Given the description of an element on the screen output the (x, y) to click on. 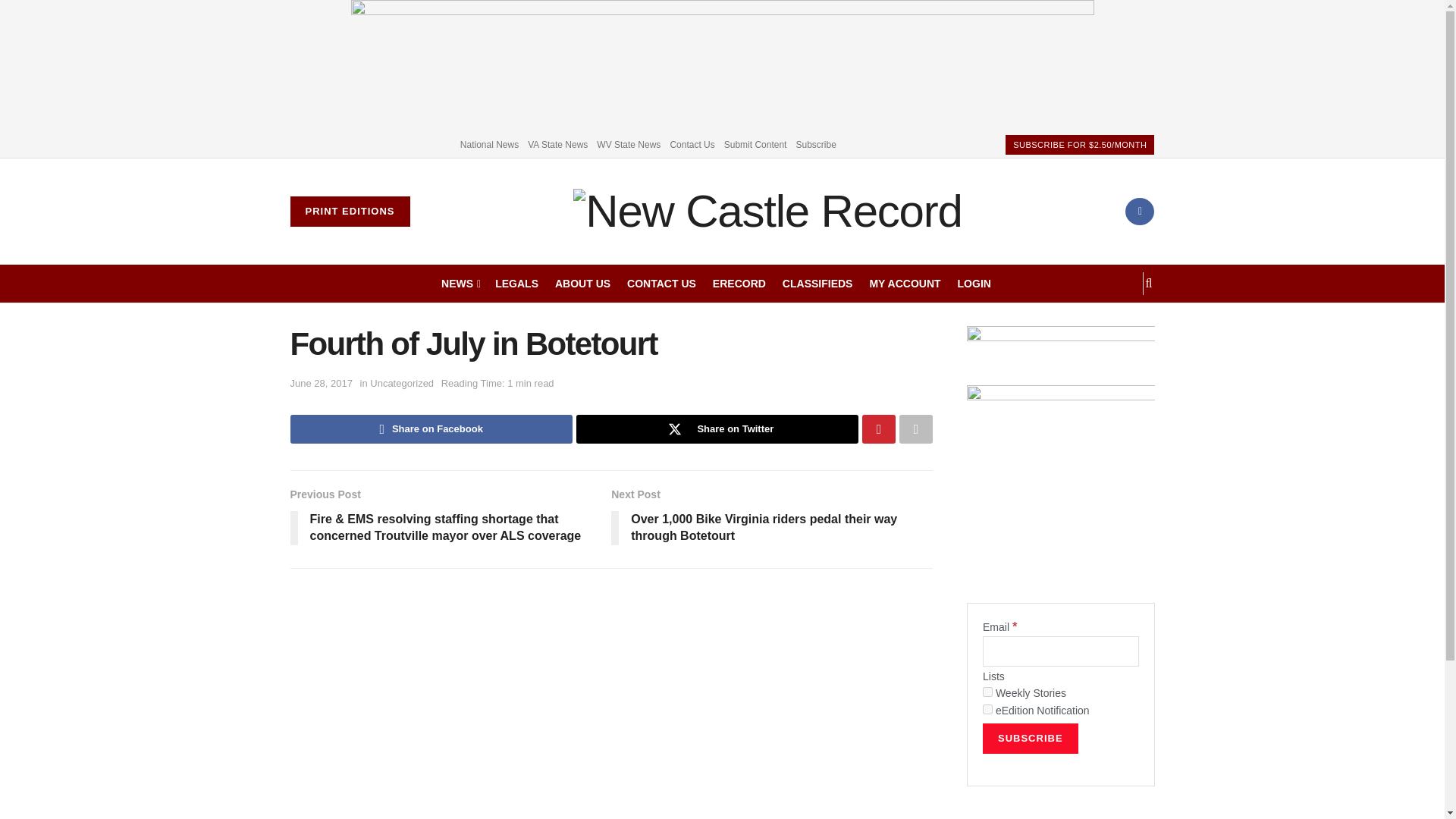
CONTACT US (661, 283)
WV State News (628, 144)
1 (987, 691)
LEGALS (516, 283)
Subscribe (814, 144)
Submit Content (755, 144)
Subscribe (1030, 738)
VA State News (557, 144)
LOGIN (974, 283)
ERECORD (739, 283)
